Given the description of an element on the screen output the (x, y) to click on. 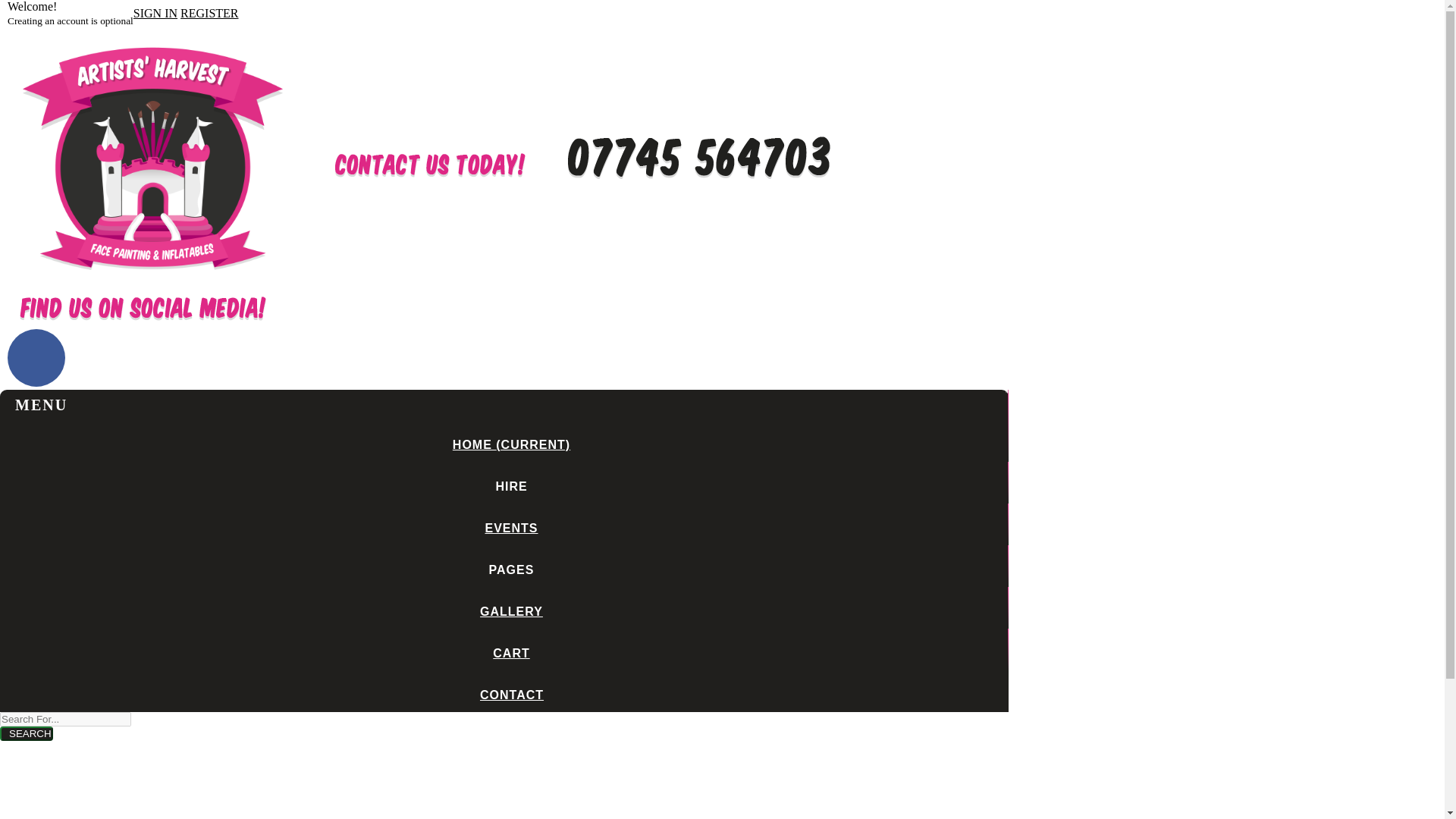
Artists Harvest (152, 280)
EVENTS (507, 528)
SEARCH (26, 733)
CART (507, 653)
GALLERY (507, 611)
Call us today! (698, 178)
REGISTER (209, 12)
PAGES (507, 569)
SIGN IN (155, 12)
HIRE (507, 486)
CONTACT (508, 694)
